Given the description of an element on the screen output the (x, y) to click on. 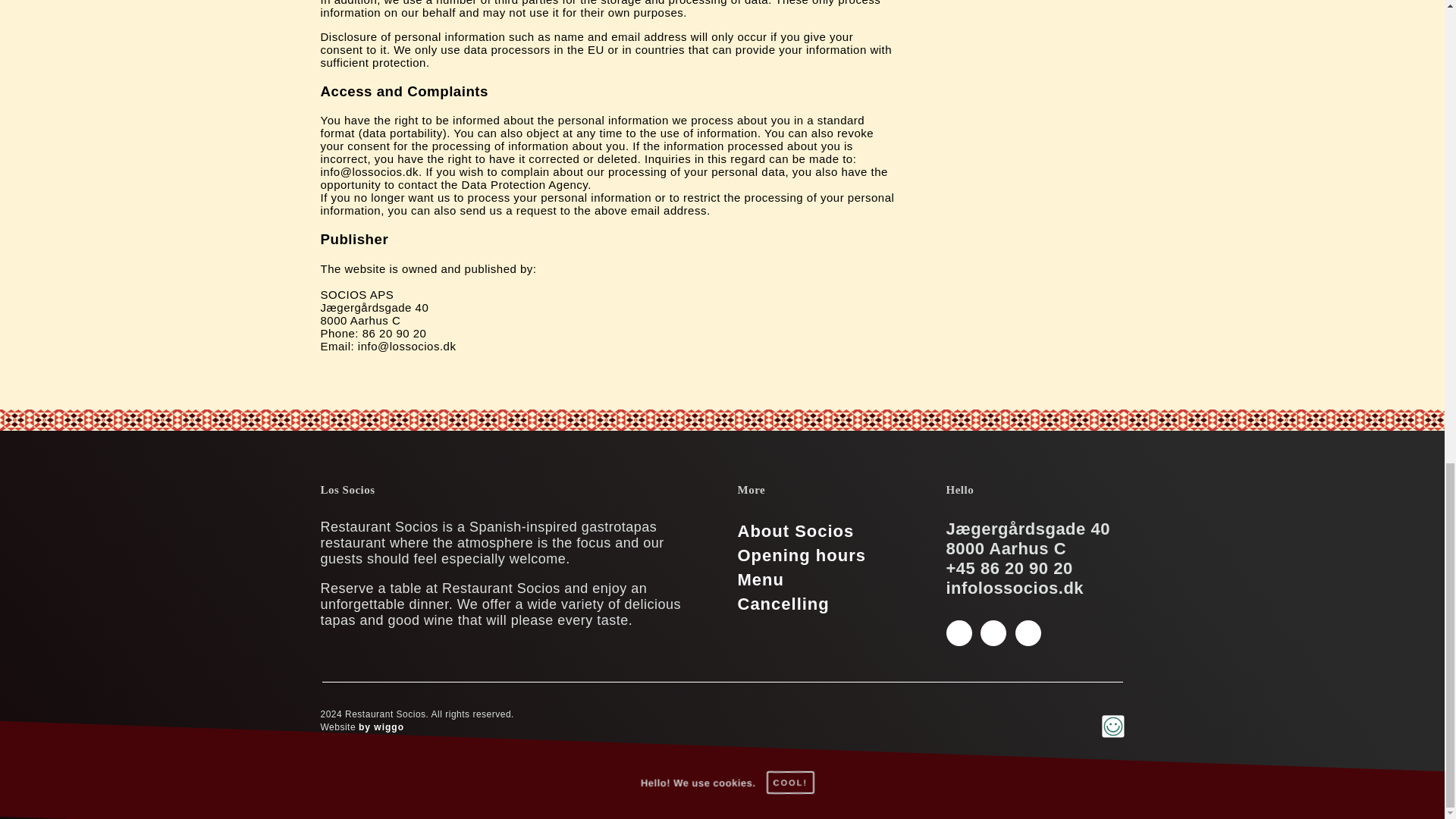
Menu (759, 579)
About Socios (794, 531)
Vi er restaurant Socios (794, 531)
Opening hours (800, 555)
Cancelling (782, 604)
by wiggo (381, 726)
